Given the description of an element on the screen output the (x, y) to click on. 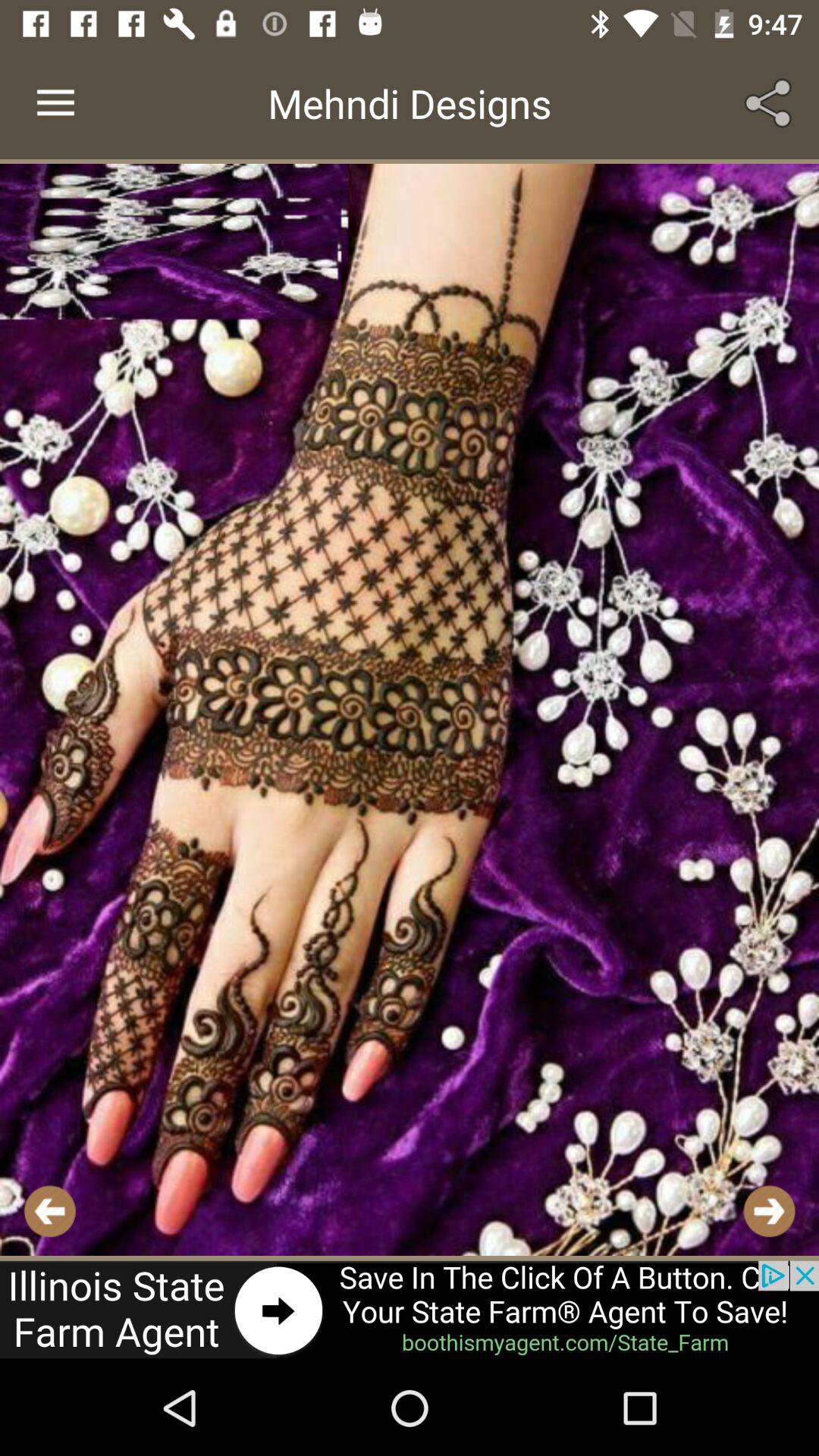
mehndi designs with next button (409, 709)
